Given the description of an element on the screen output the (x, y) to click on. 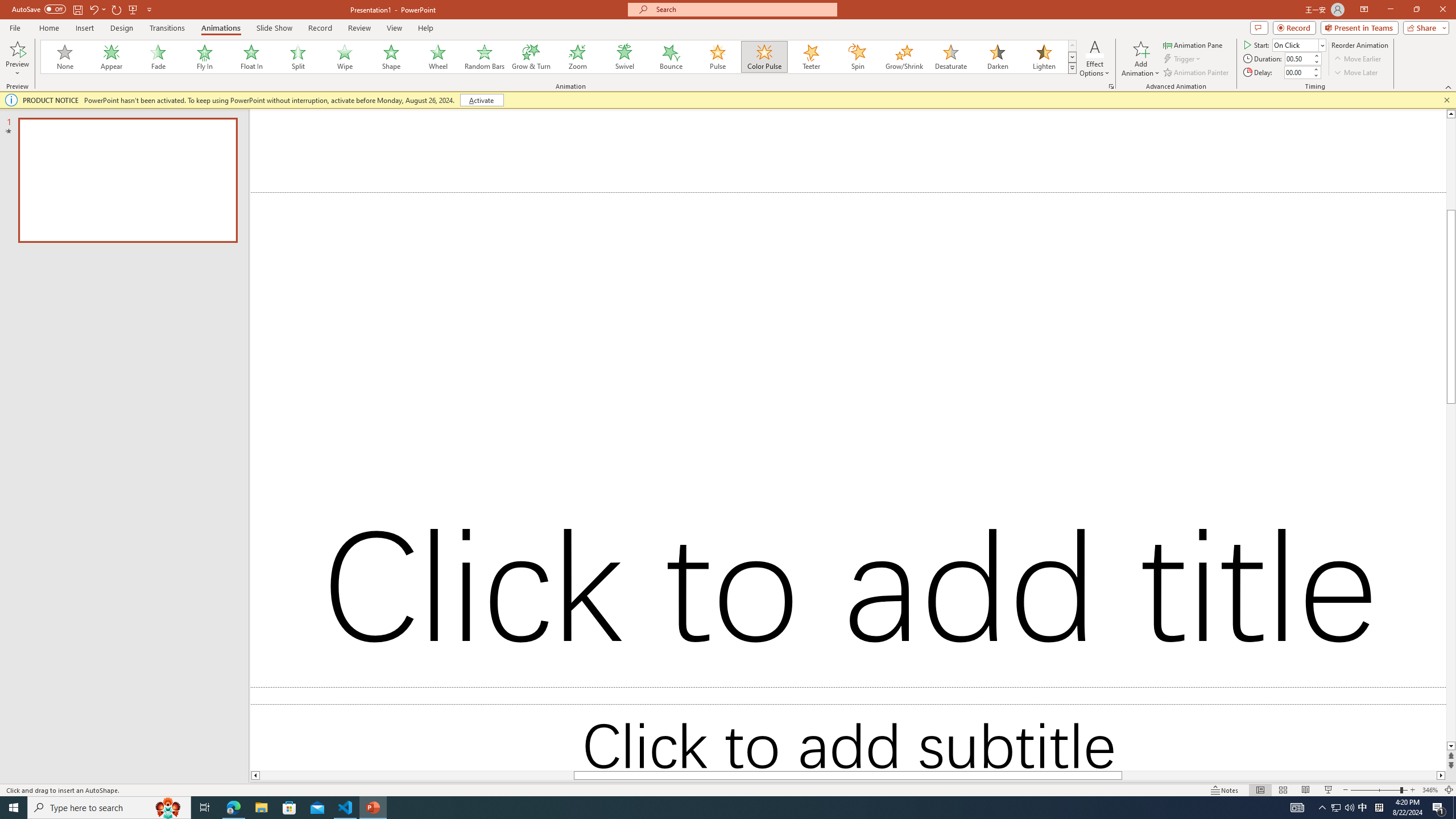
Close this message (1446, 99)
Activate (481, 100)
Animation Styles (1071, 67)
Swivel (624, 56)
